Given the description of an element on the screen output the (x, y) to click on. 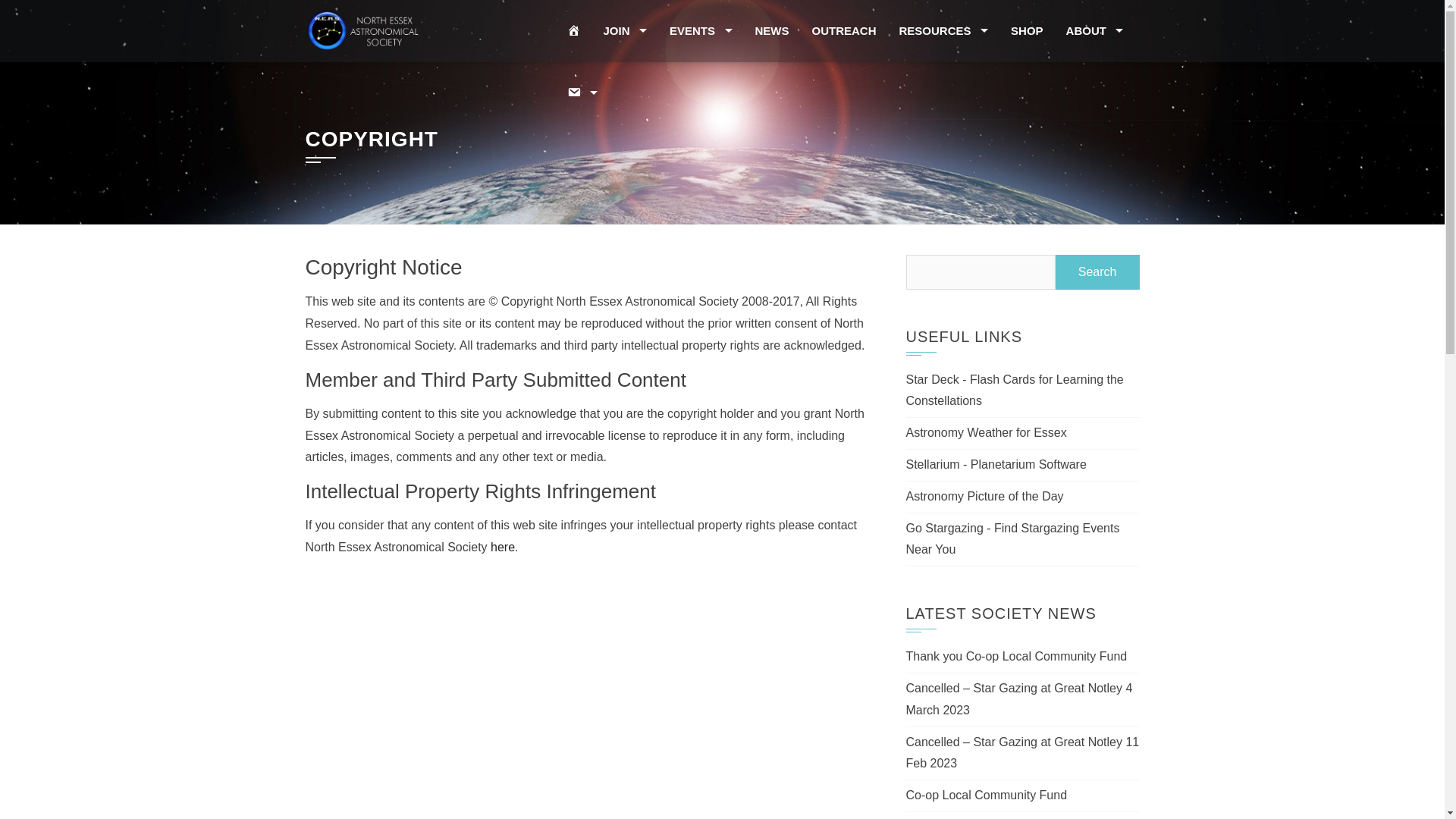
NEWS (772, 31)
JOIN (624, 31)
SHOP (1026, 31)
See a great new astronomy picture every day. (983, 495)
EVENTS (701, 31)
Search (1097, 271)
RESOURCES (944, 31)
ABOUT (1094, 31)
OUTREACH (844, 31)
